Given the description of an element on the screen output the (x, y) to click on. 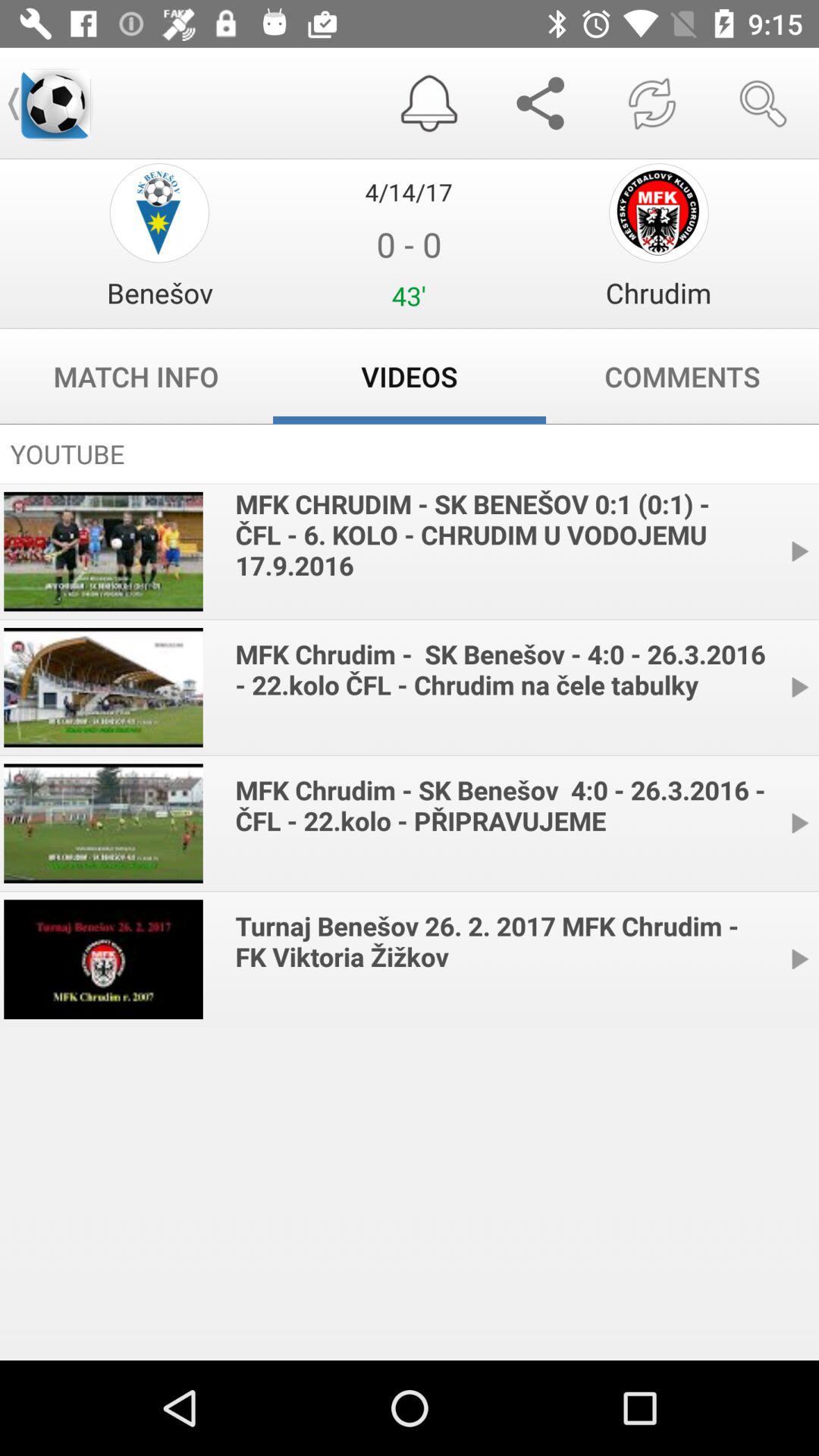
press 4/14/17 (408, 191)
